Given the description of an element on the screen output the (x, y) to click on. 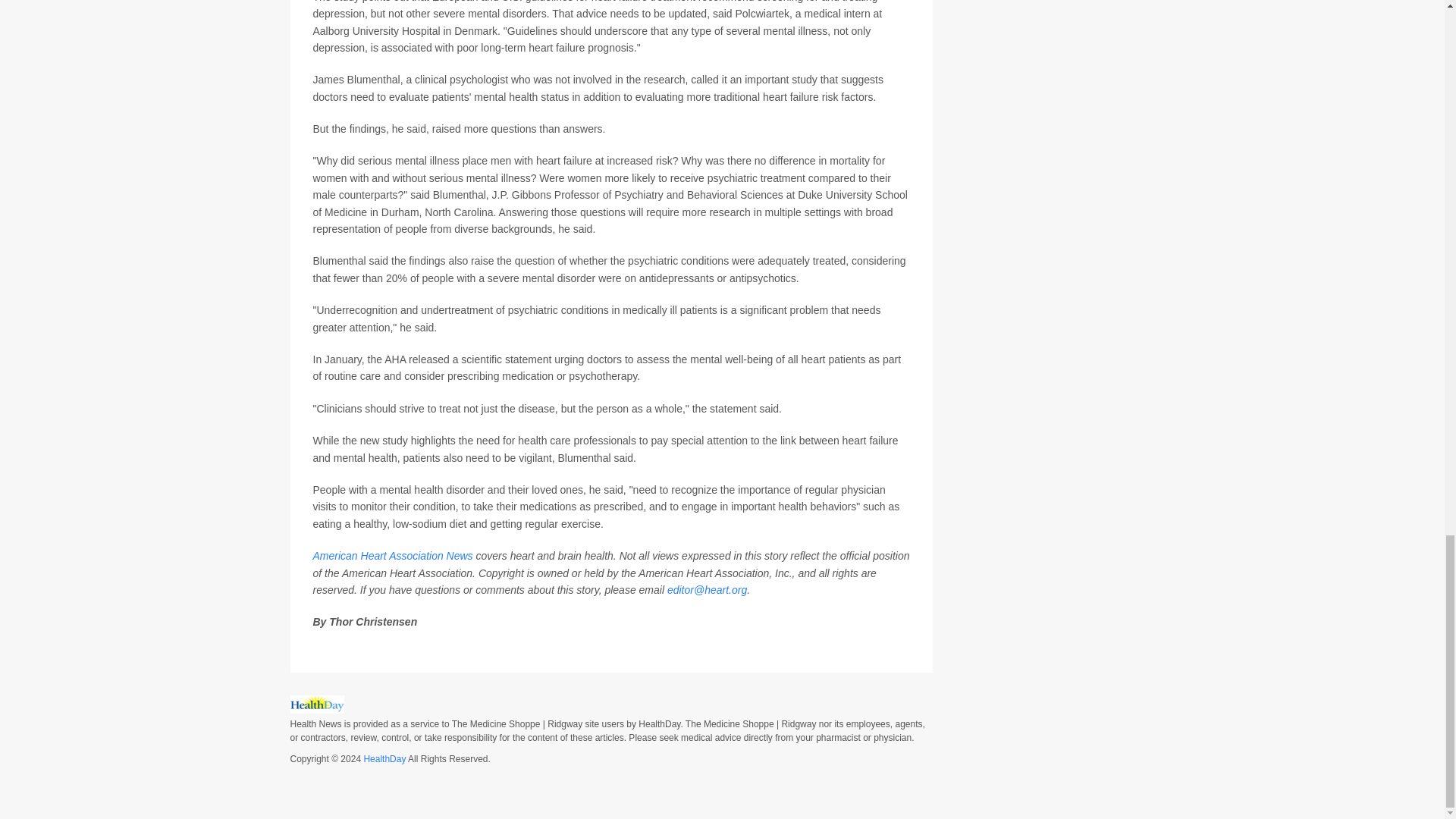
HealthDay (384, 758)
American Heart Association News (392, 555)
